Given the description of an element on the screen output the (x, y) to click on. 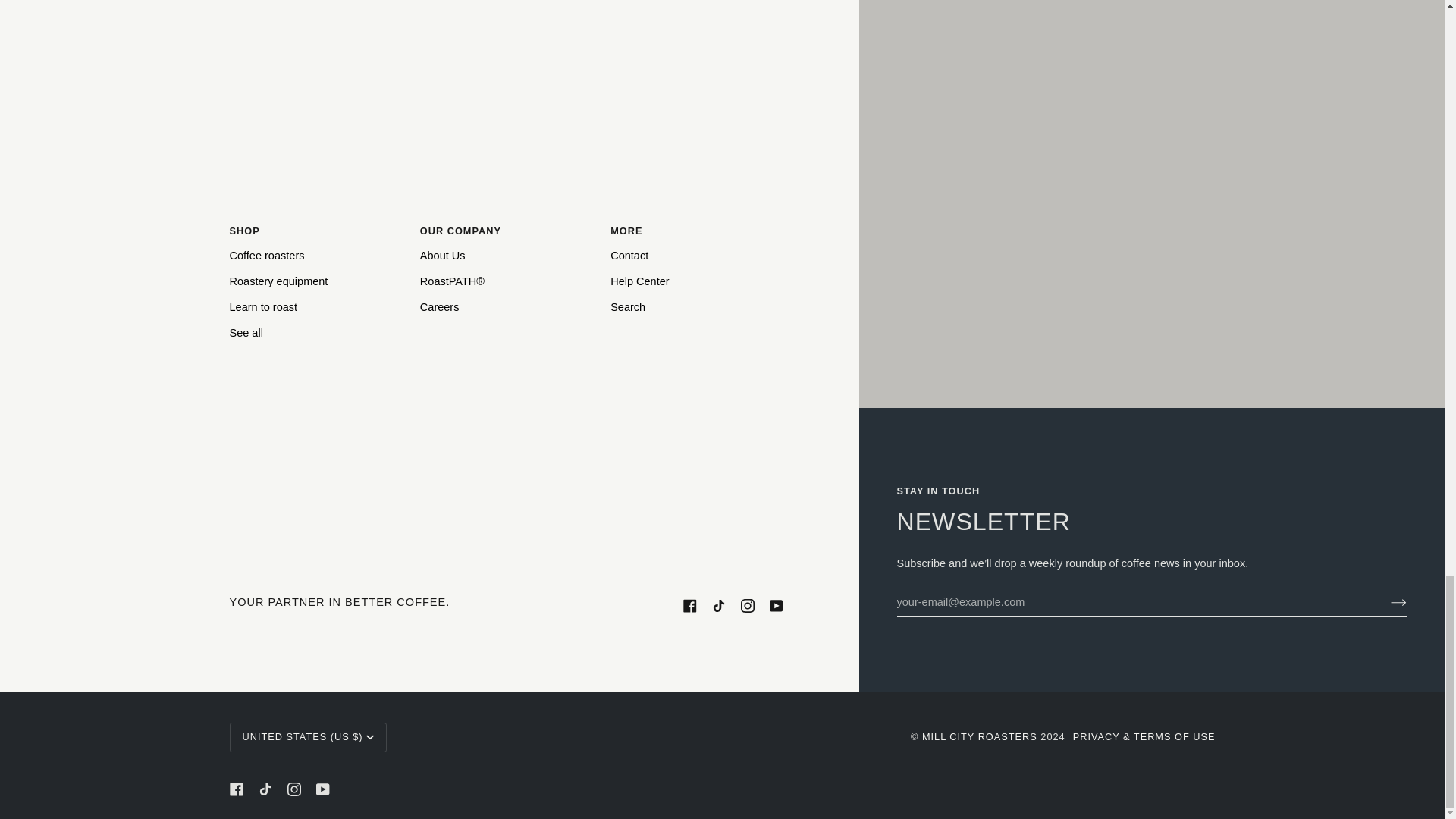
YouTube (322, 789)
Facebook (235, 789)
Instagram (746, 605)
Tiktok (718, 605)
Tiktok (263, 789)
Instagram (292, 789)
Facebook (688, 605)
YouTube (775, 605)
